Given the description of an element on the screen output the (x, y) to click on. 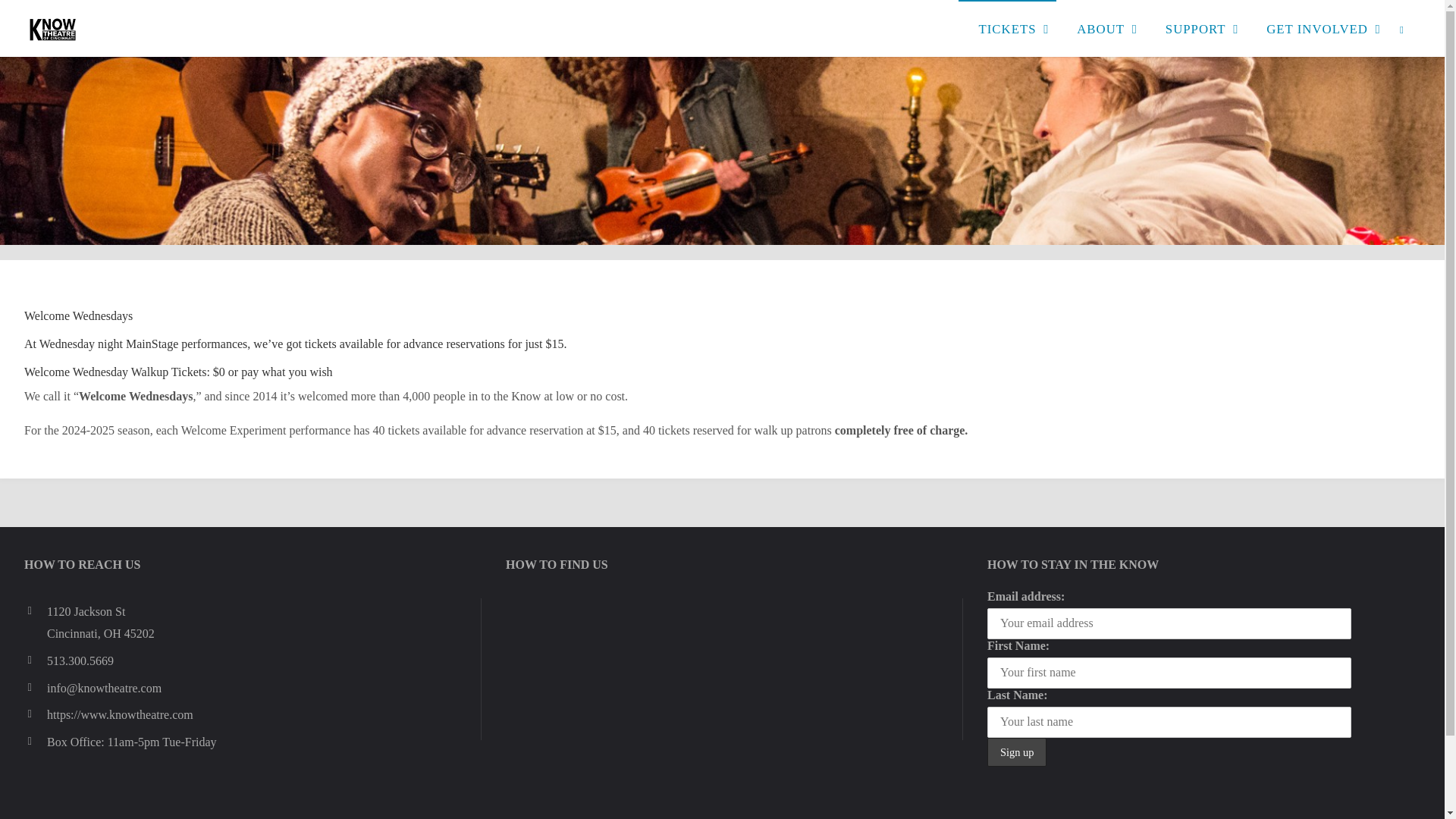
Sign up (1016, 752)
ABOUT (1100, 28)
KNOW THEATRE OF CINCINNATI (140, 82)
Address (35, 610)
Opening Hours (35, 741)
Know Theatre of Cincinnati (53, 28)
SUPPORT (1195, 28)
E-mail (35, 687)
TICKETS (1007, 28)
Phone (35, 660)
Web (35, 713)
Cincinnati's Theatrical Playground (140, 82)
